Given the description of an element on the screen output the (x, y) to click on. 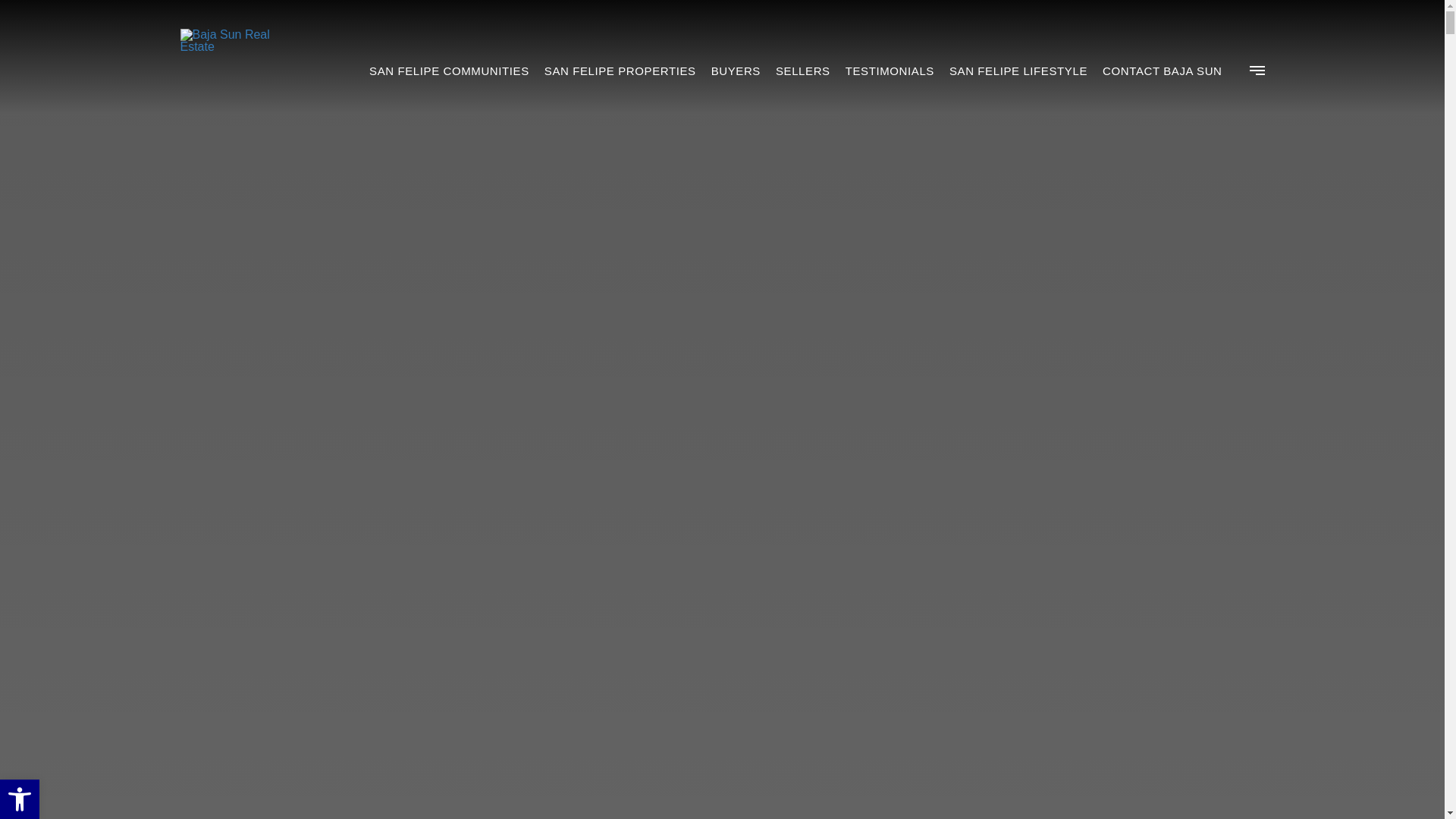
Accessibility Tools (19, 799)
Accessibility Tools (19, 799)
